Given the description of an element on the screen output the (x, y) to click on. 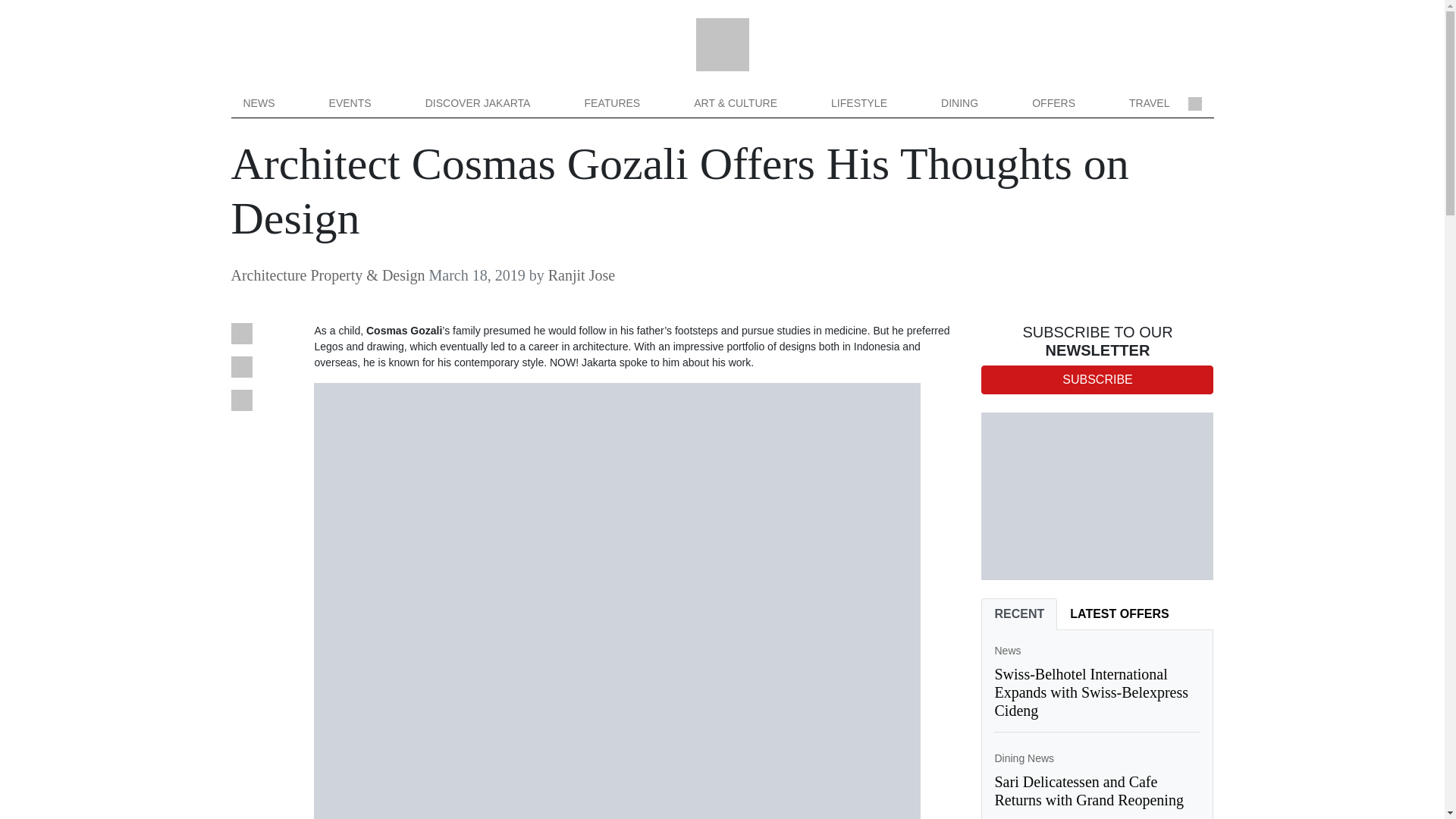
EVENTS (350, 103)
TRAVEL (1148, 103)
News (1007, 650)
NEWS (258, 103)
LATEST OFFERS (1118, 613)
DINING (959, 103)
DISCOVER JAKARTA (478, 103)
Sari Delicatessen and Cafe Returns with Grand Reopening (1088, 790)
FEATURES (612, 103)
